Given the description of an element on the screen output the (x, y) to click on. 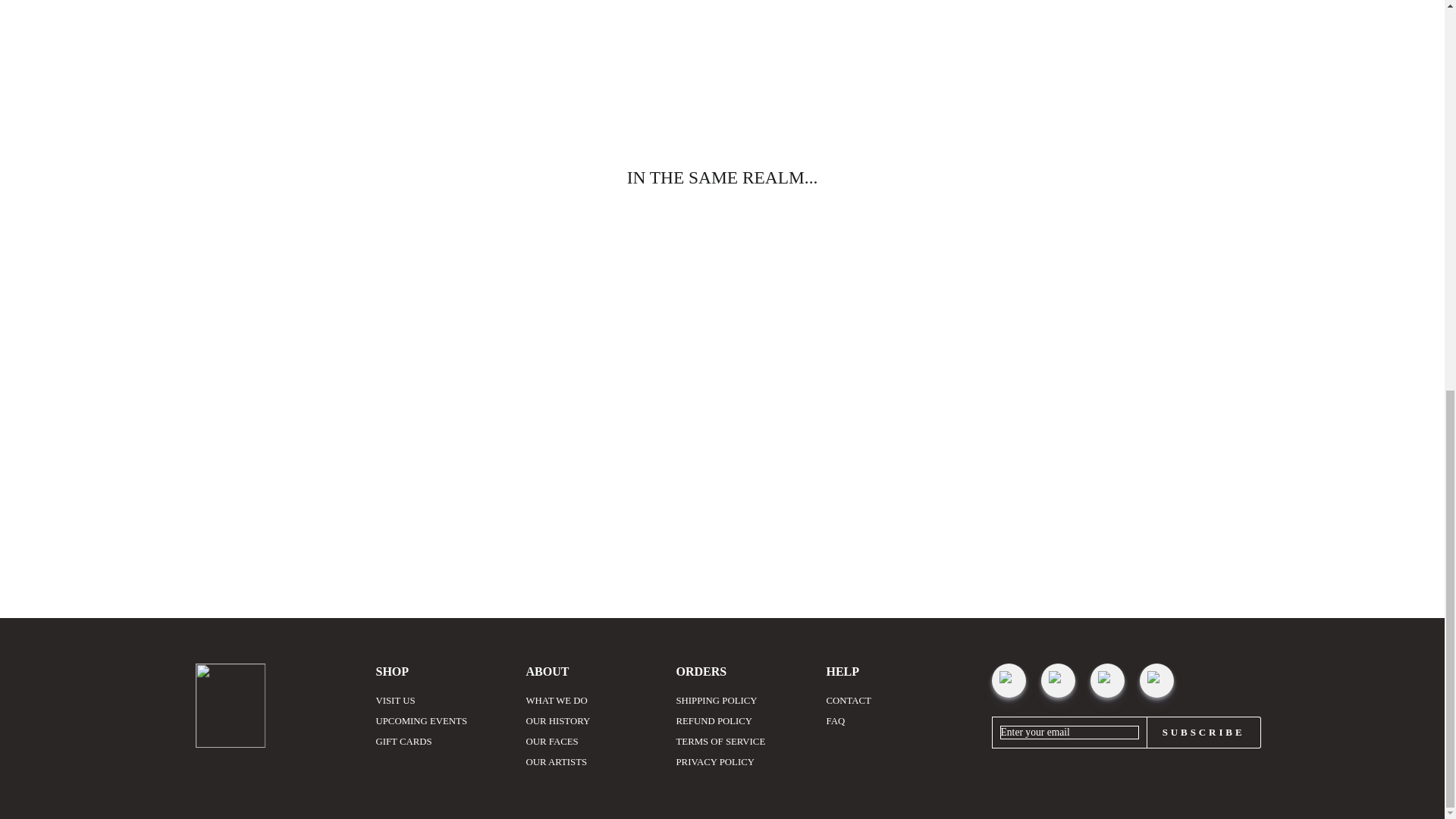
Go to of aspen youtube (1107, 680)
Go to of aspen pinterest (1155, 680)
Go to of aspen instagram  (1008, 680)
Go to of aspen tiktok (1057, 680)
